Given the description of an element on the screen output the (x, y) to click on. 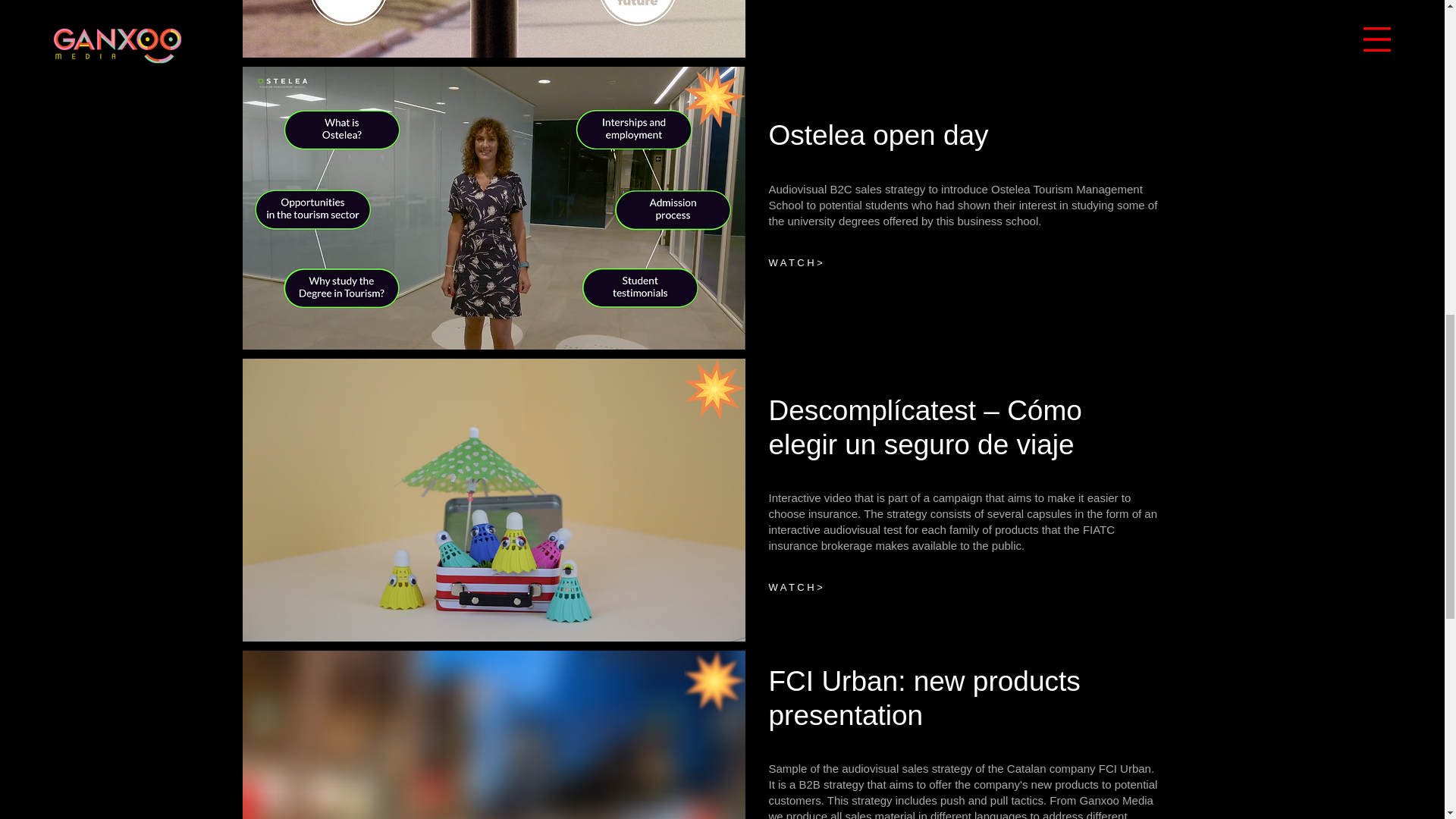
Ostelea open day (878, 134)
FCI Urban: new products presentation (924, 697)
